Given the description of an element on the screen output the (x, y) to click on. 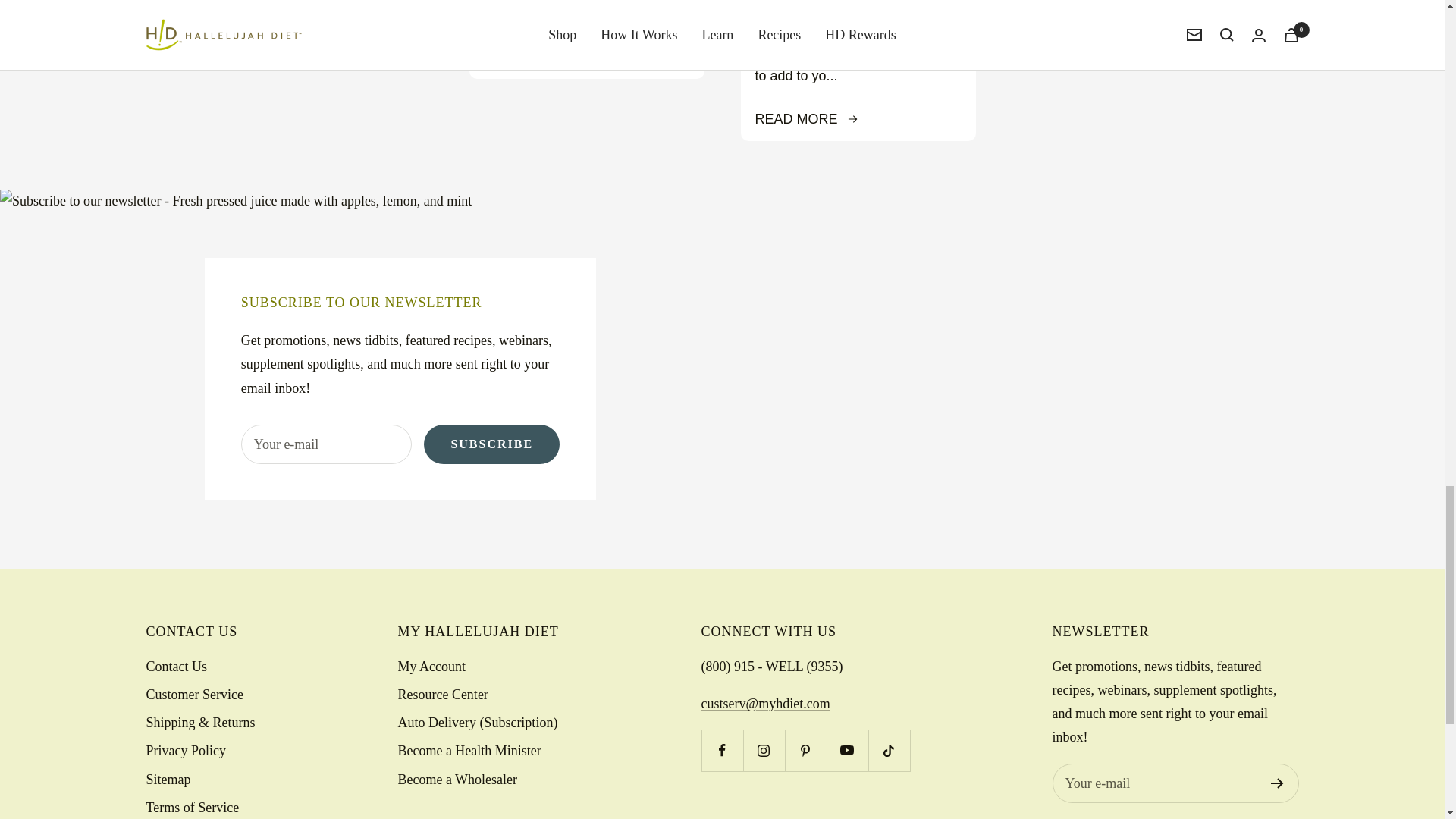
Register (1277, 783)
